Given the description of an element on the screen output the (x, y) to click on. 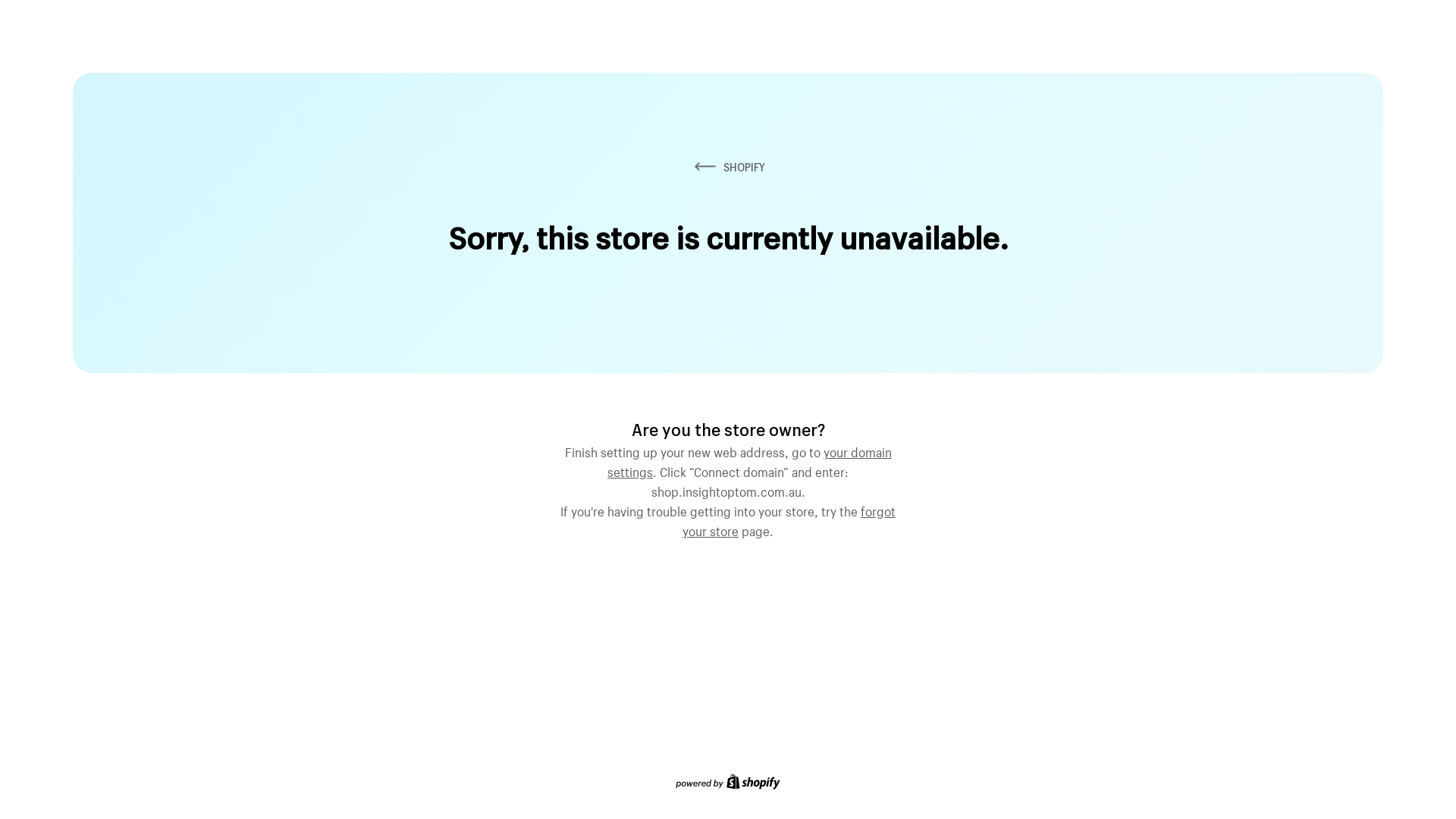
SHOPIFY Element type: text (727, 167)
forgot your store Element type: text (788, 519)
your domain settings Element type: text (749, 460)
